Given the description of an element on the screen output the (x, y) to click on. 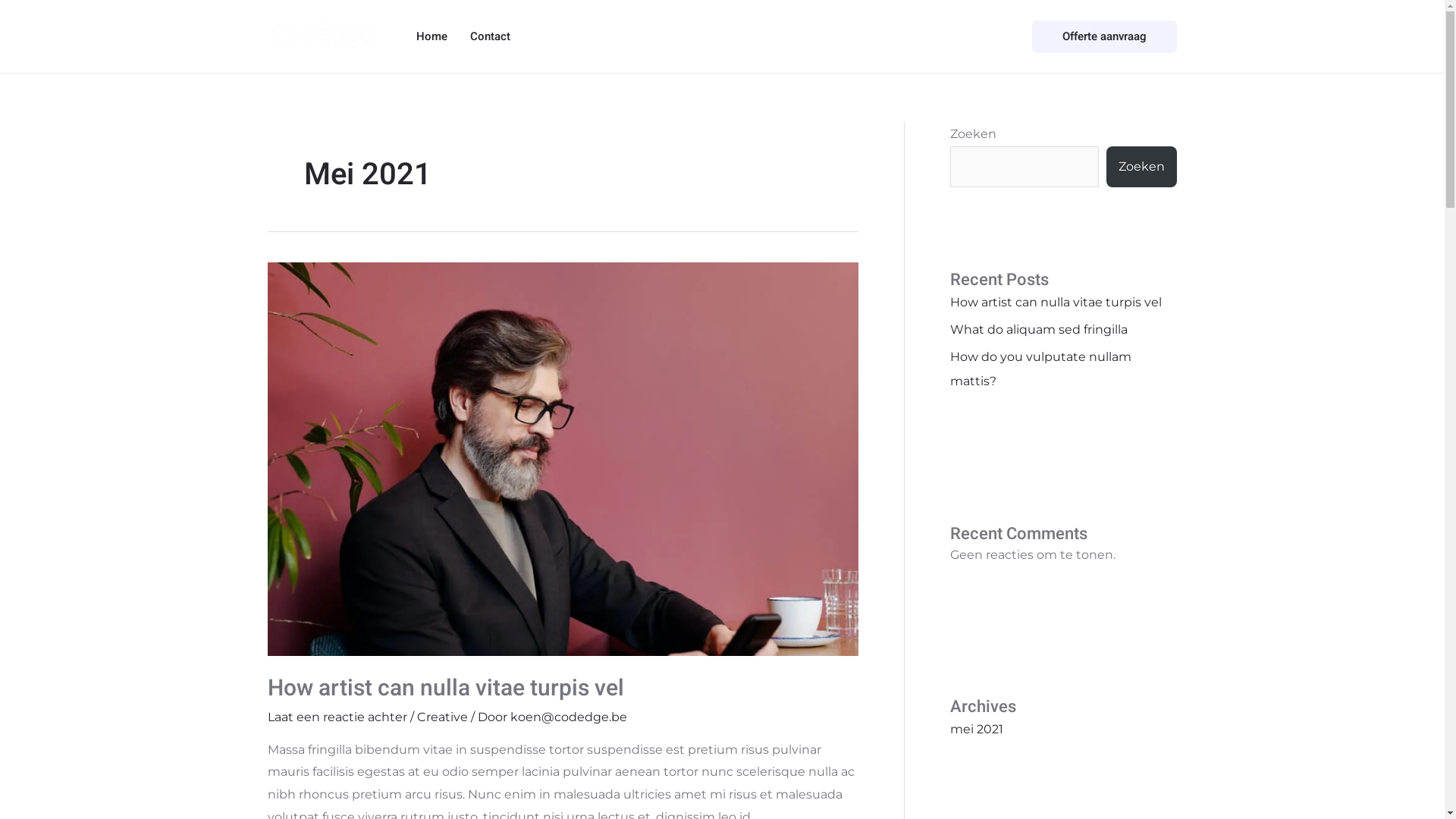
How artist can nulla vitae turpis vel Element type: text (1055, 301)
Laat een reactie achter Element type: text (336, 716)
Offerte aanvraag Element type: text (1104, 36)
Home Element type: text (431, 36)
Zoeken Element type: text (1140, 166)
How do you vulputate nullam mattis? Element type: text (1039, 368)
koen@codedge.be Element type: text (567, 716)
Contact Element type: text (489, 36)
mei 2021 Element type: text (975, 728)
Creative Element type: text (442, 716)
How artist can nulla vitae turpis vel Element type: text (444, 688)
What do aliquam sed fringilla Element type: text (1037, 329)
